Given the description of an element on the screen output the (x, y) to click on. 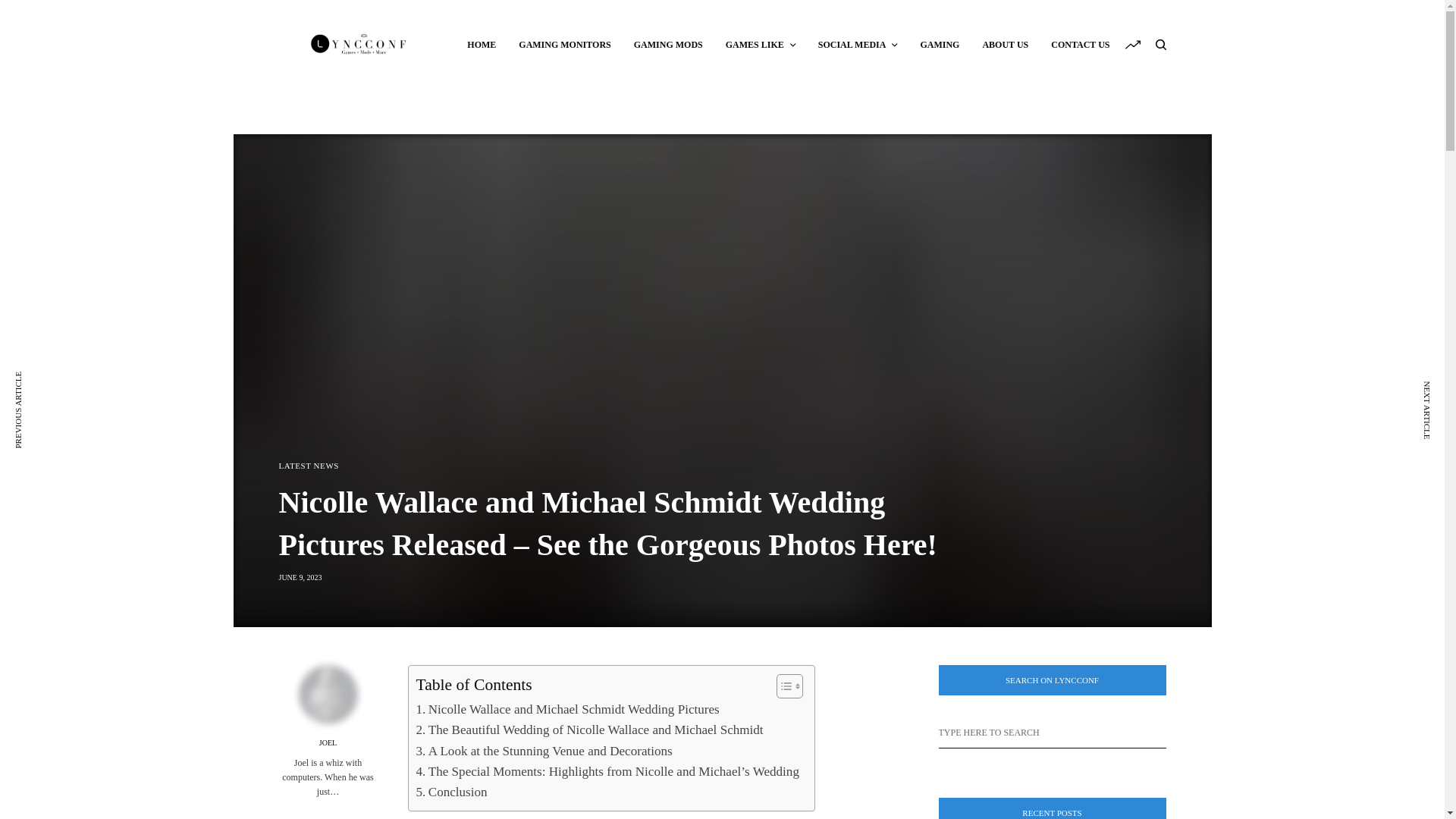
Nicolle Wallace and Michael Schmidt Wedding Pictures (566, 709)
The Beautiful Wedding of Nicolle Wallace and Michael Schmidt (588, 729)
The Beautiful Wedding of Nicolle Wallace and Michael Schmidt (588, 729)
Nicolle Wallace and Michael Schmidt Wedding Pictures (566, 709)
LyncConf (360, 44)
SOCIAL MEDIA (858, 44)
LATEST NEWS (309, 465)
GAMING MONITORS (564, 44)
A Look at the Stunning Venue and Decorations (542, 751)
Conclusion (450, 792)
